Given the description of an element on the screen output the (x, y) to click on. 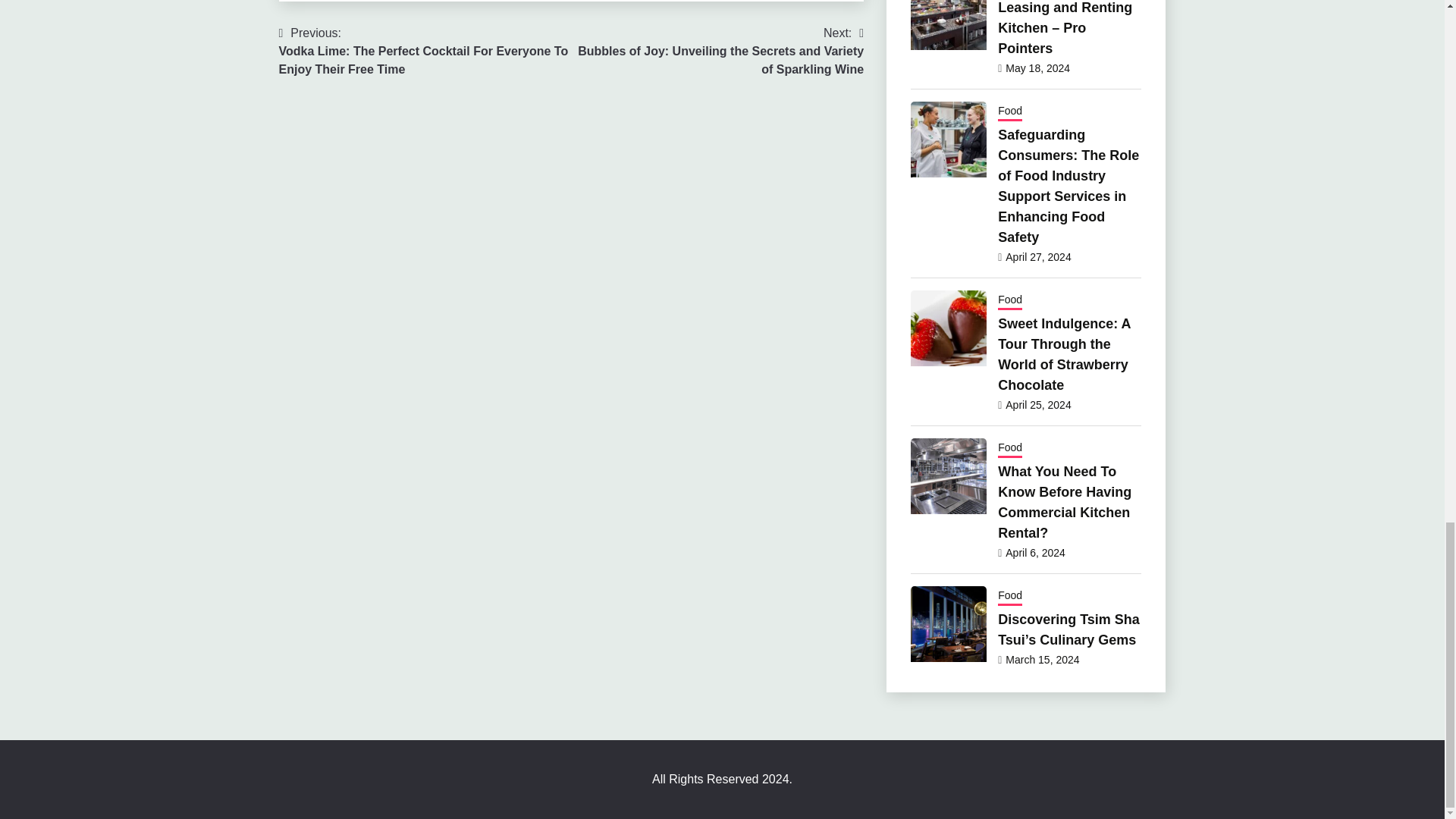
Food (1009, 112)
May 18, 2024 (1038, 68)
